Given the description of an element on the screen output the (x, y) to click on. 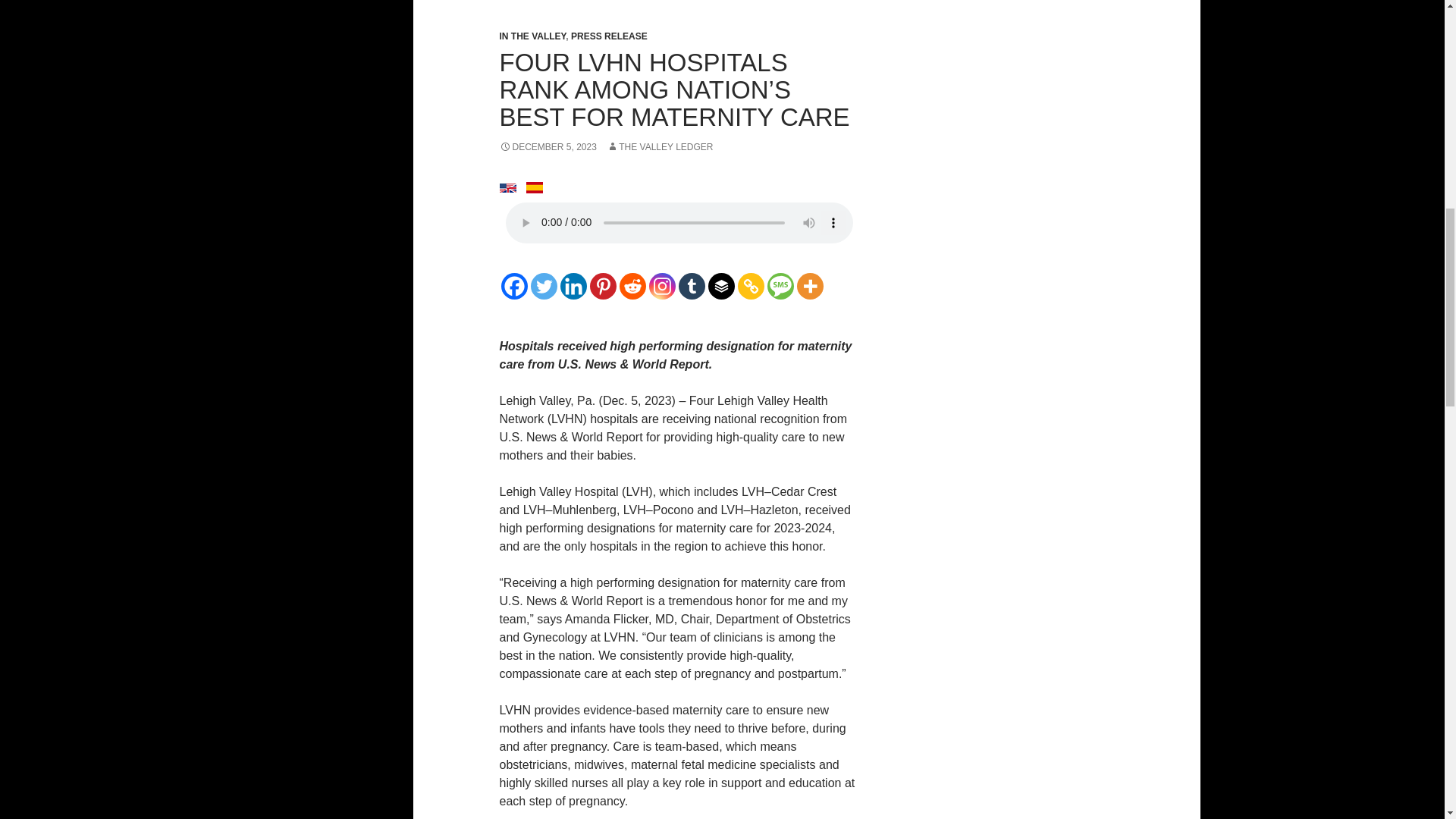
Reddit (631, 285)
Buffer (721, 285)
More (809, 285)
Instagram (662, 285)
Facebook (513, 285)
Twitter (544, 285)
Tumblr (691, 285)
PRESS RELEASE (608, 36)
Pinterest (602, 285)
Copy Link (749, 285)
